Given the description of an element on the screen output the (x, y) to click on. 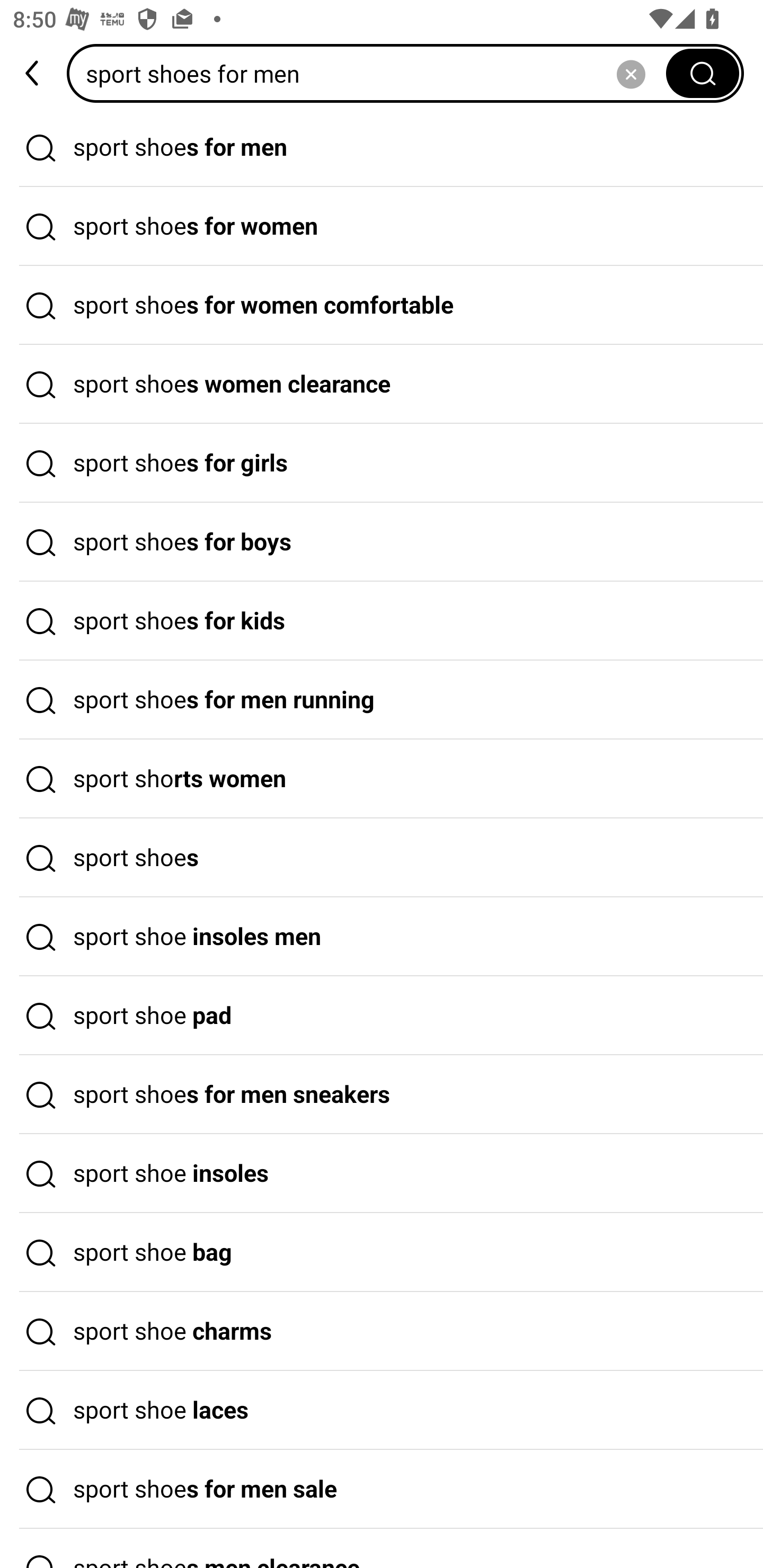
back (33, 72)
sport shoes for men (372, 73)
Delete search history (630, 73)
sport shoes for men (381, 147)
sport shoes for women (381, 226)
sport shoes for women comfortable (381, 305)
sport shoes women clearance (381, 383)
sport shoes for girls (381, 463)
sport shoes for boys (381, 542)
sport shoes for kids (381, 620)
sport shoes for men running (381, 700)
sport shorts women (381, 779)
sport shoes (381, 857)
sport shoe insoles men (381, 936)
sport shoe pad (381, 1015)
sport shoes for men sneakers (381, 1094)
sport shoe insoles (381, 1173)
sport shoe bag (381, 1252)
sport shoe charms (381, 1331)
sport shoe laces (381, 1410)
sport shoes for men sale (381, 1489)
